Given the description of an element on the screen output the (x, y) to click on. 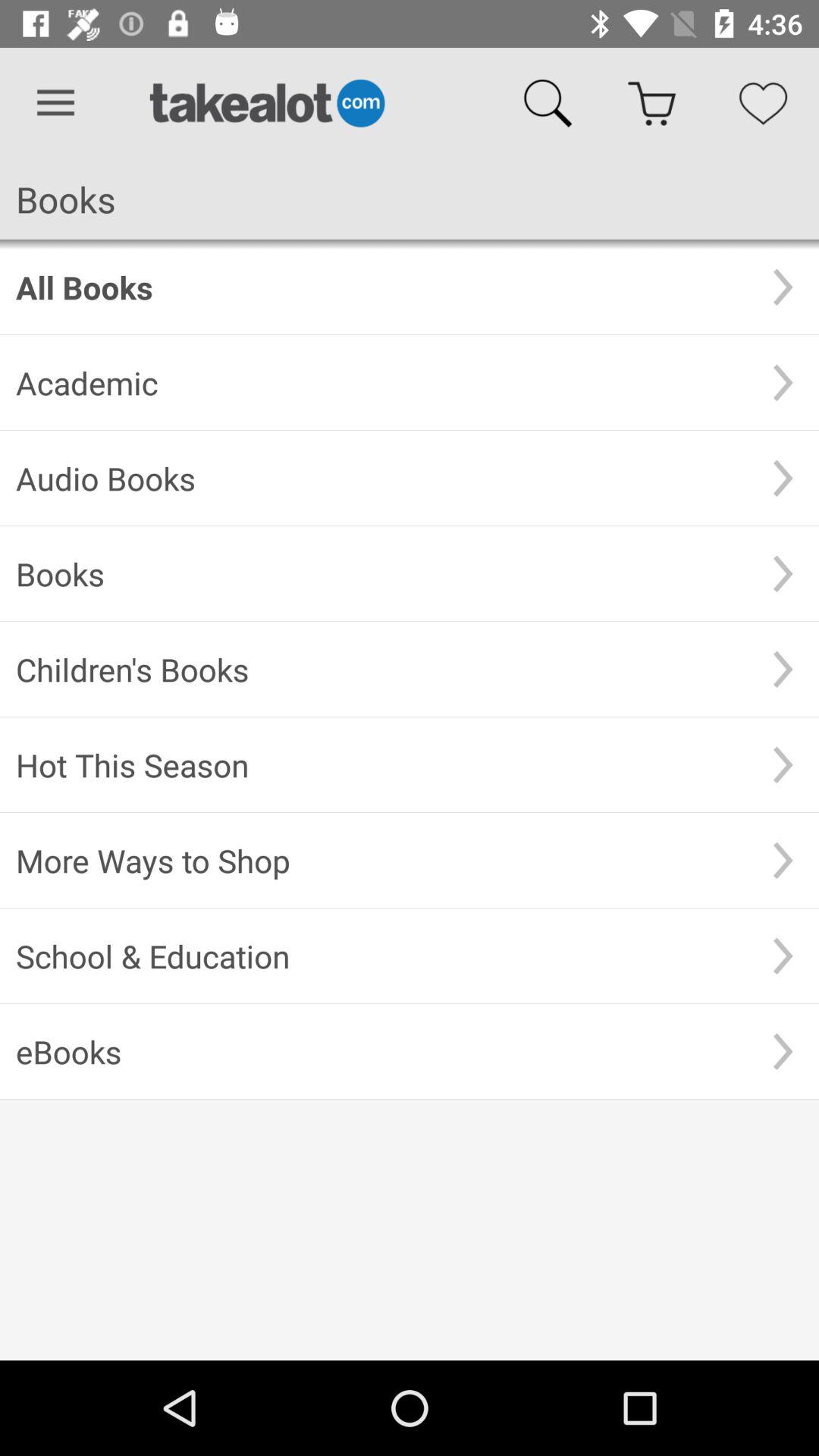
swipe to the ebooks item (381, 1051)
